Given the description of an element on the screen output the (x, y) to click on. 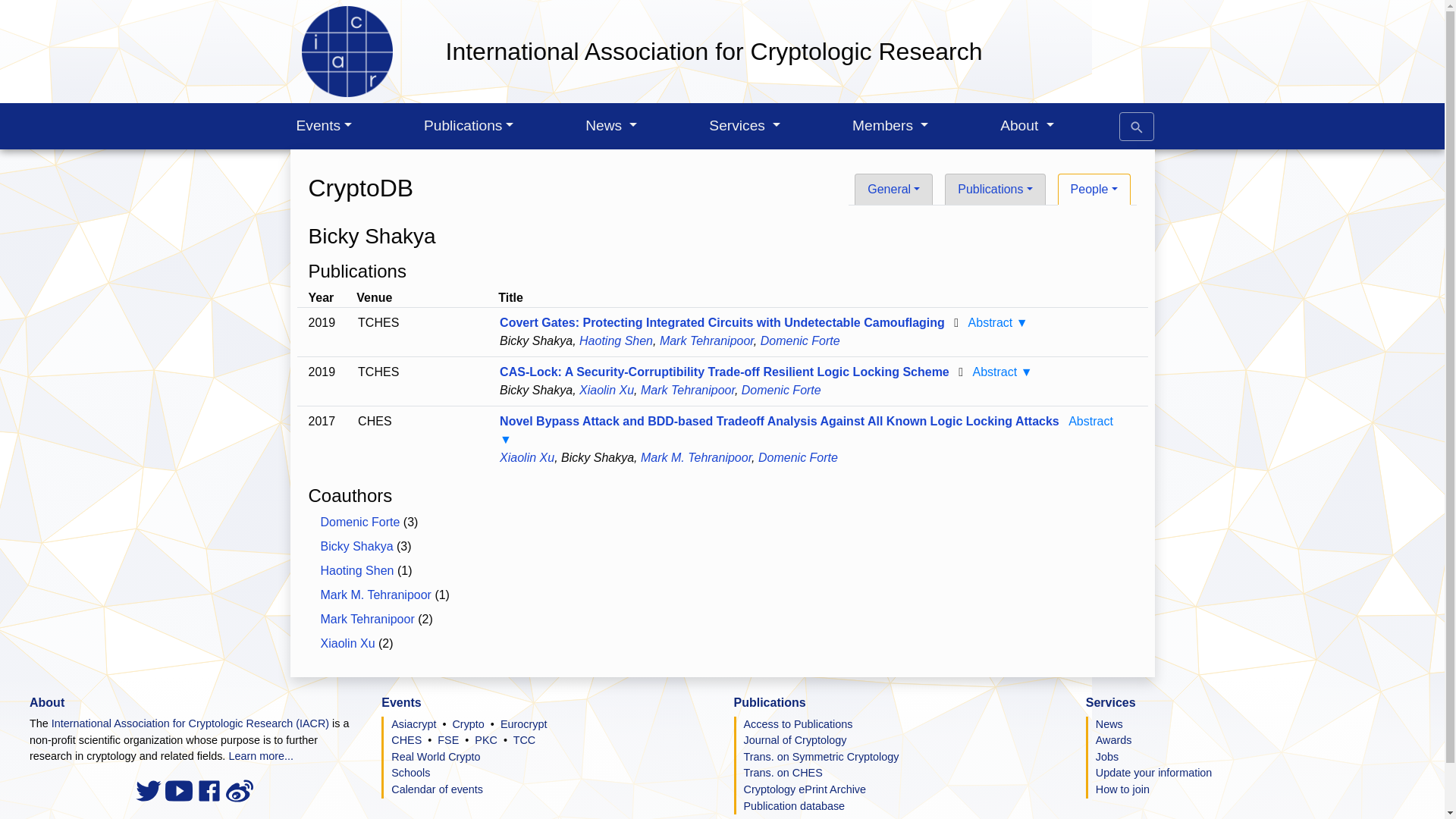
Events (323, 125)
Services (744, 125)
Members (889, 125)
YouTube Channel (180, 789)
News (611, 125)
Weibo (239, 789)
Fast Software Encryption (448, 739)
Public Key Cryptography (485, 739)
Publications (468, 125)
Cryptographic Hardware and Embedded Systems (406, 739)
Twitter Feed (150, 789)
Theory of Cryptography Conference (524, 739)
Facebook Page (210, 789)
